Given the description of an element on the screen output the (x, y) to click on. 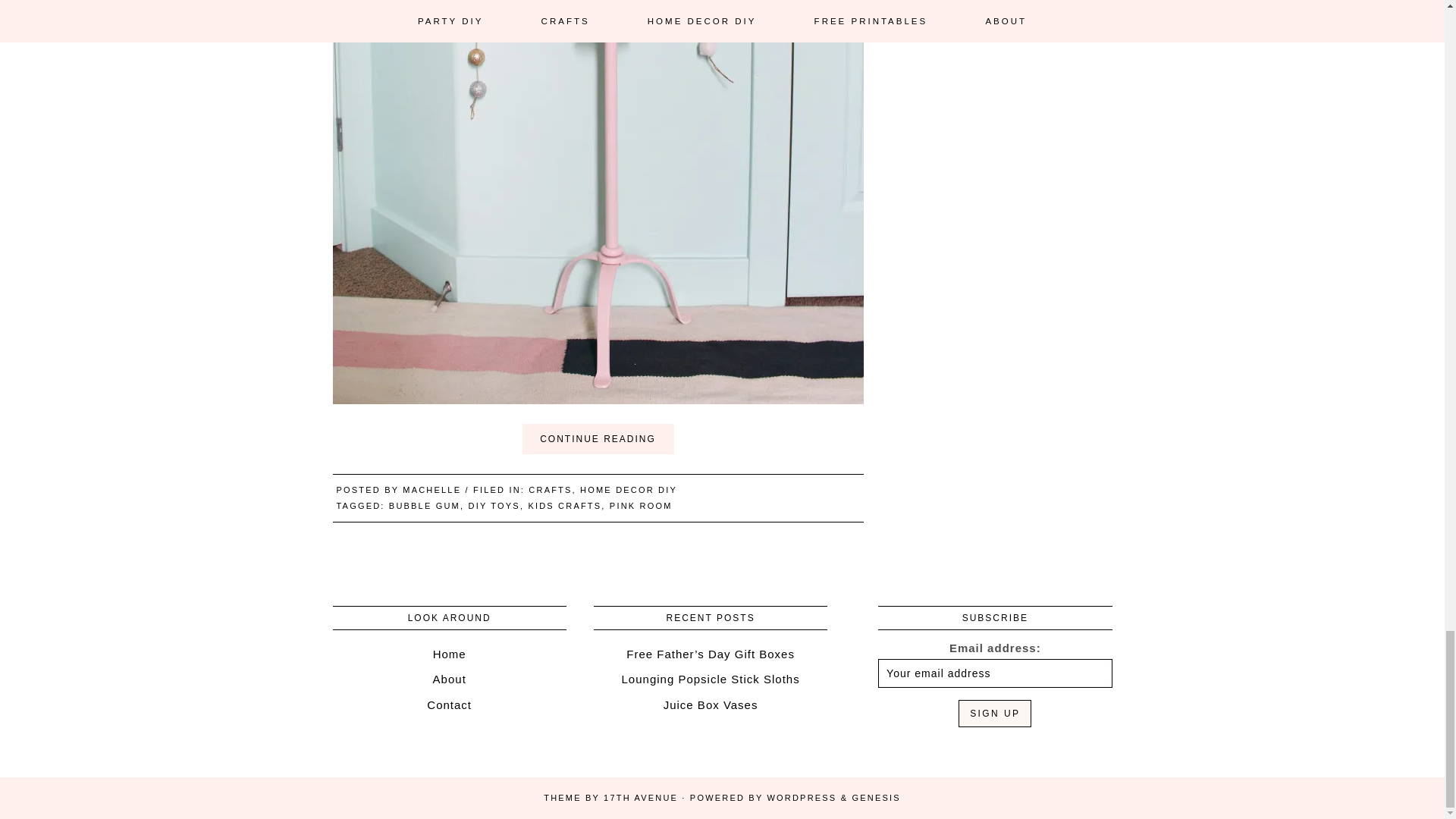
CONTINUE READING (596, 439)
Sign up (994, 713)
CRAFTS (550, 489)
Sign up (994, 713)
17TH AVENUE (641, 797)
HOME DECOR DIY (628, 489)
Juice Box Vases (710, 704)
DIY TOYS (493, 505)
KIDS CRAFTS (564, 505)
Contact (448, 704)
Lounging Popsicle Stick Sloths (710, 678)
BUBBLE GUM (424, 505)
Home (448, 653)
About (448, 678)
PINK ROOM (641, 505)
